Given the description of an element on the screen output the (x, y) to click on. 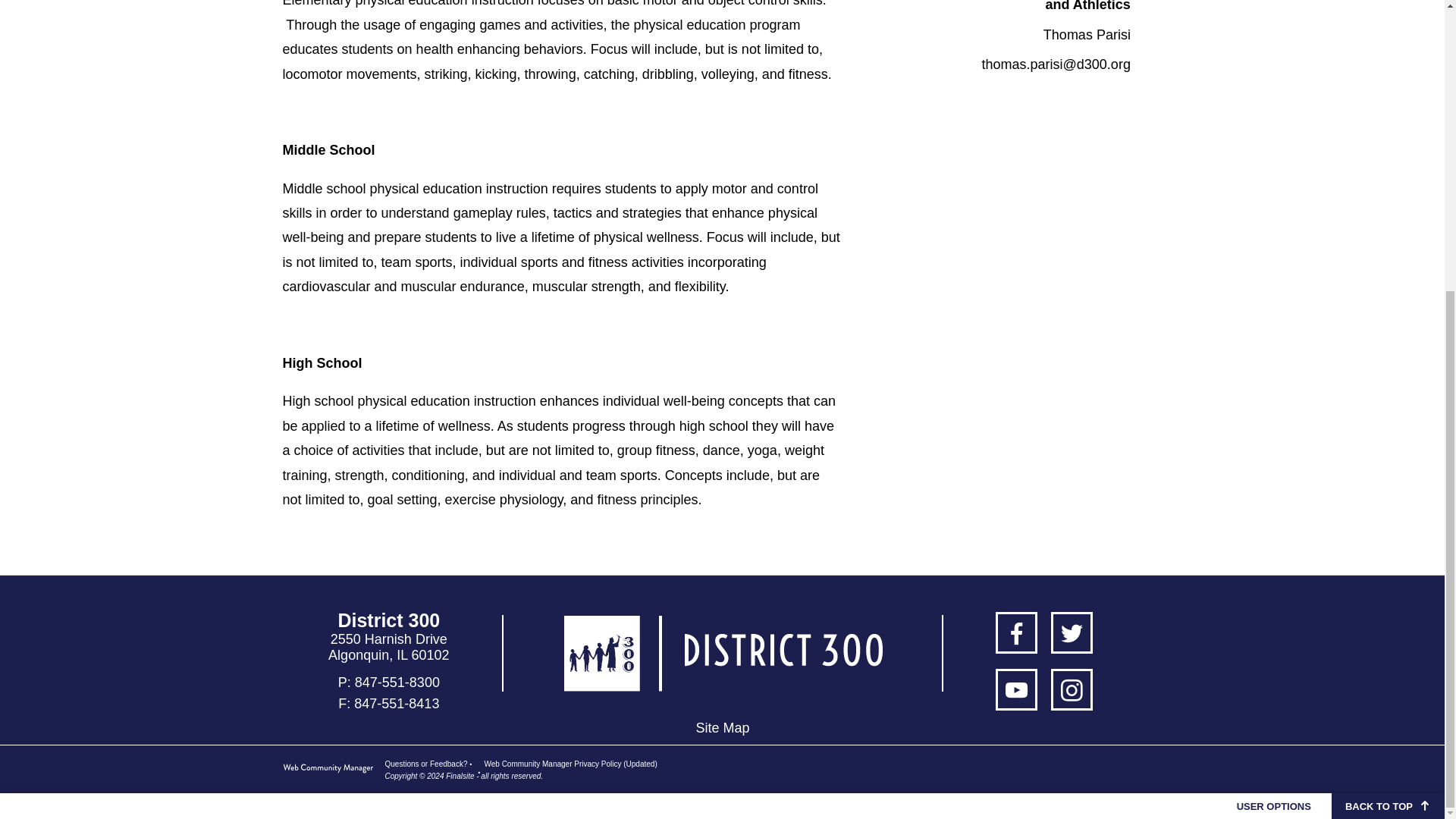
Finalsite - all rights reserved (327, 770)
